Given the description of an element on the screen output the (x, y) to click on. 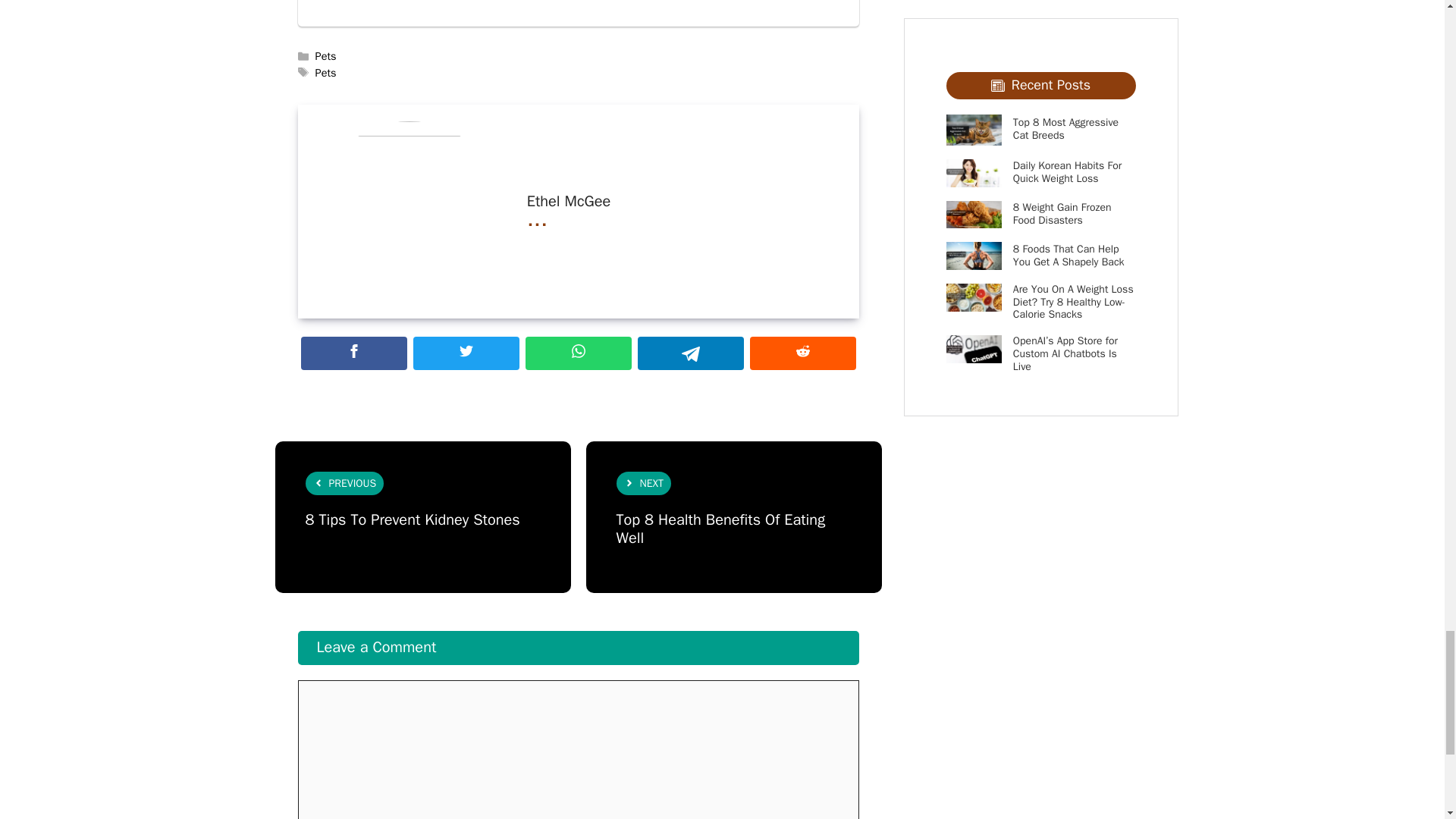
8 Tips To Prevent Kidney Stones (411, 519)
Pets (325, 72)
Top 8 Health Benefits Of Eating Well (720, 528)
Read more (537, 218)
... (537, 218)
Pets (325, 56)
